Given the description of an element on the screen output the (x, y) to click on. 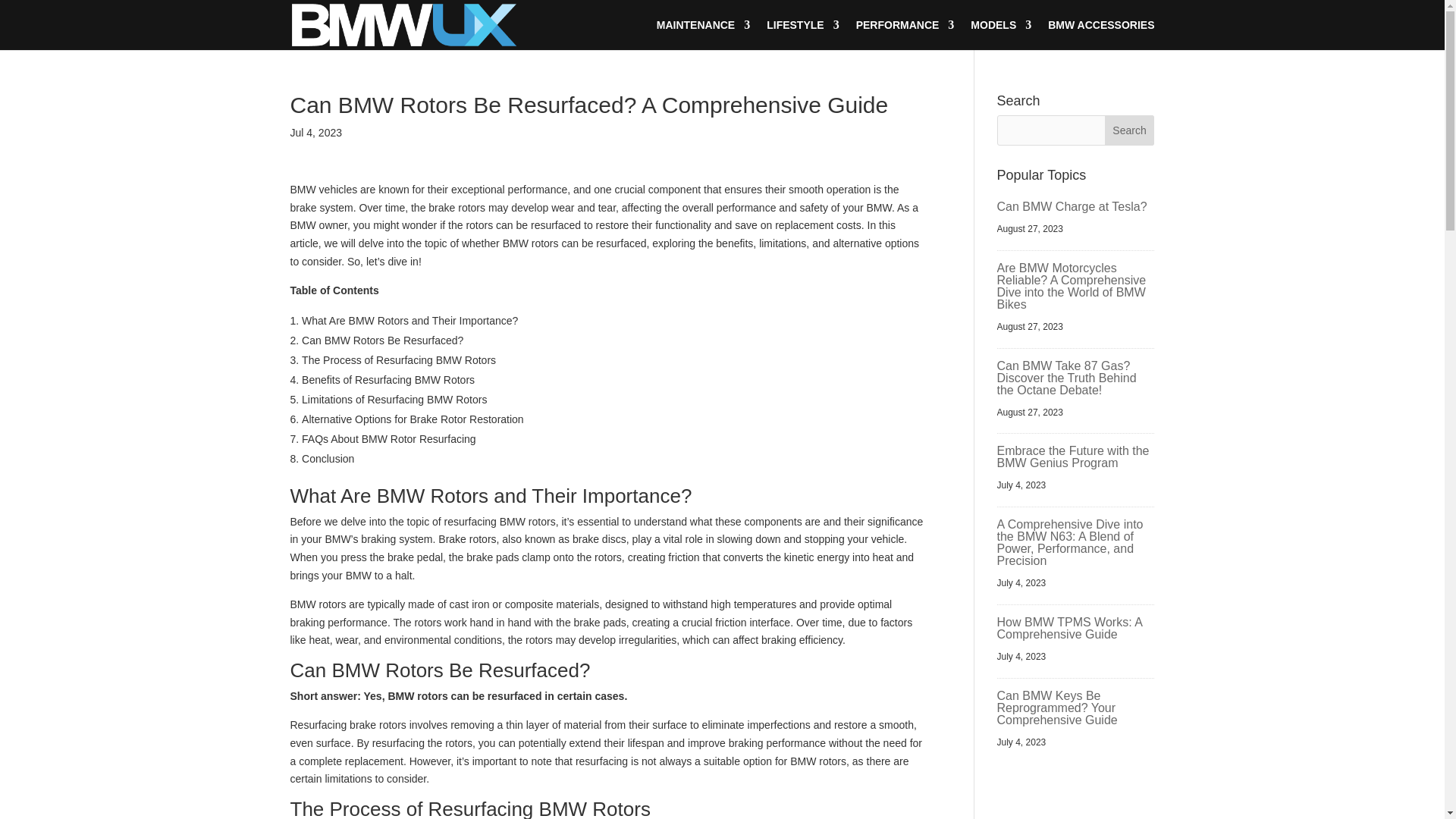
MAINTENANCE (702, 34)
Search (1129, 130)
LIFESTYLE (802, 34)
